Given the description of an element on the screen output the (x, y) to click on. 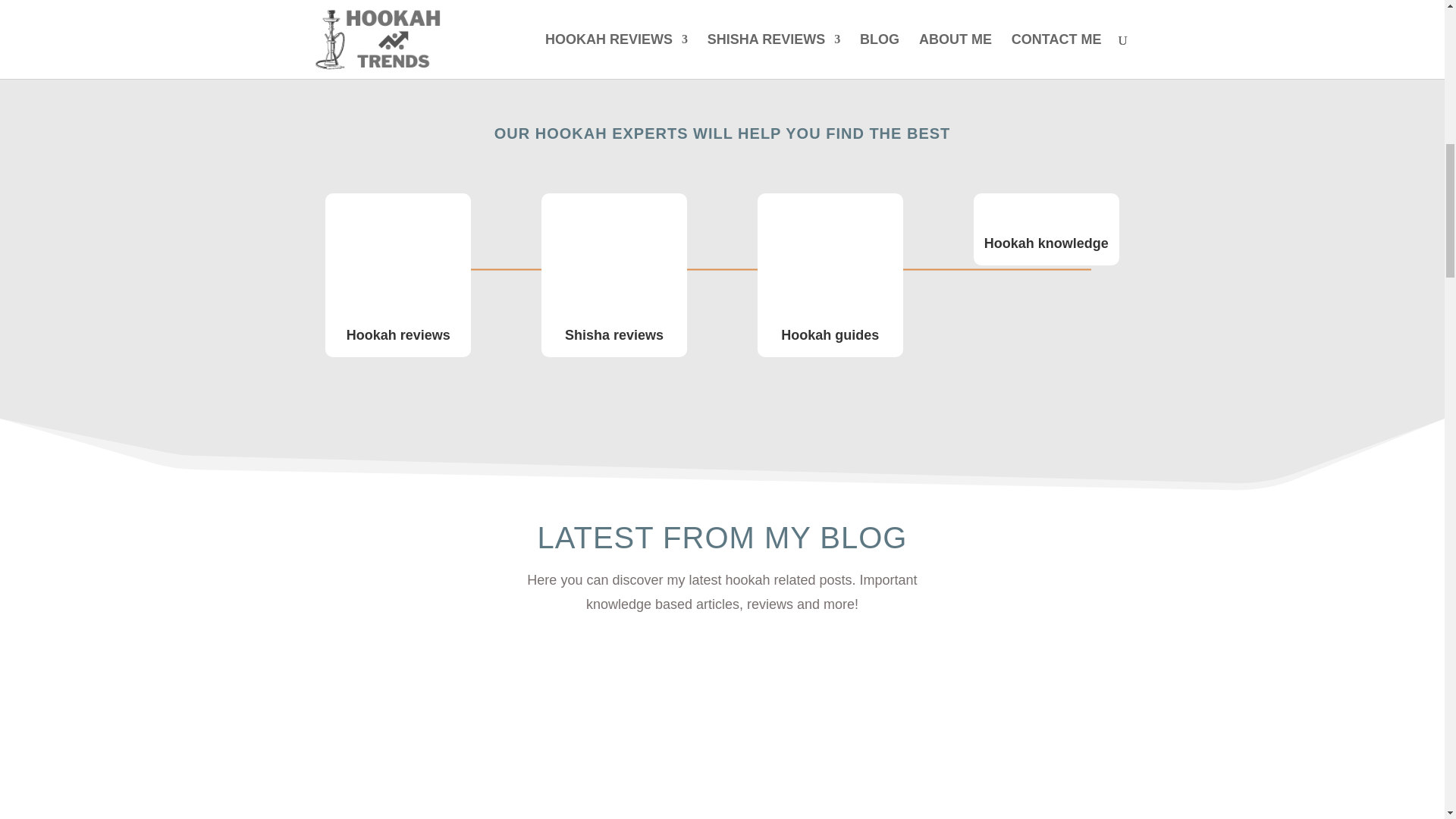
Hookah knowledge (1046, 242)
Hookah reviews (397, 335)
Shisha reviews (613, 335)
Hookah guides (829, 335)
